Given the description of an element on the screen output the (x, y) to click on. 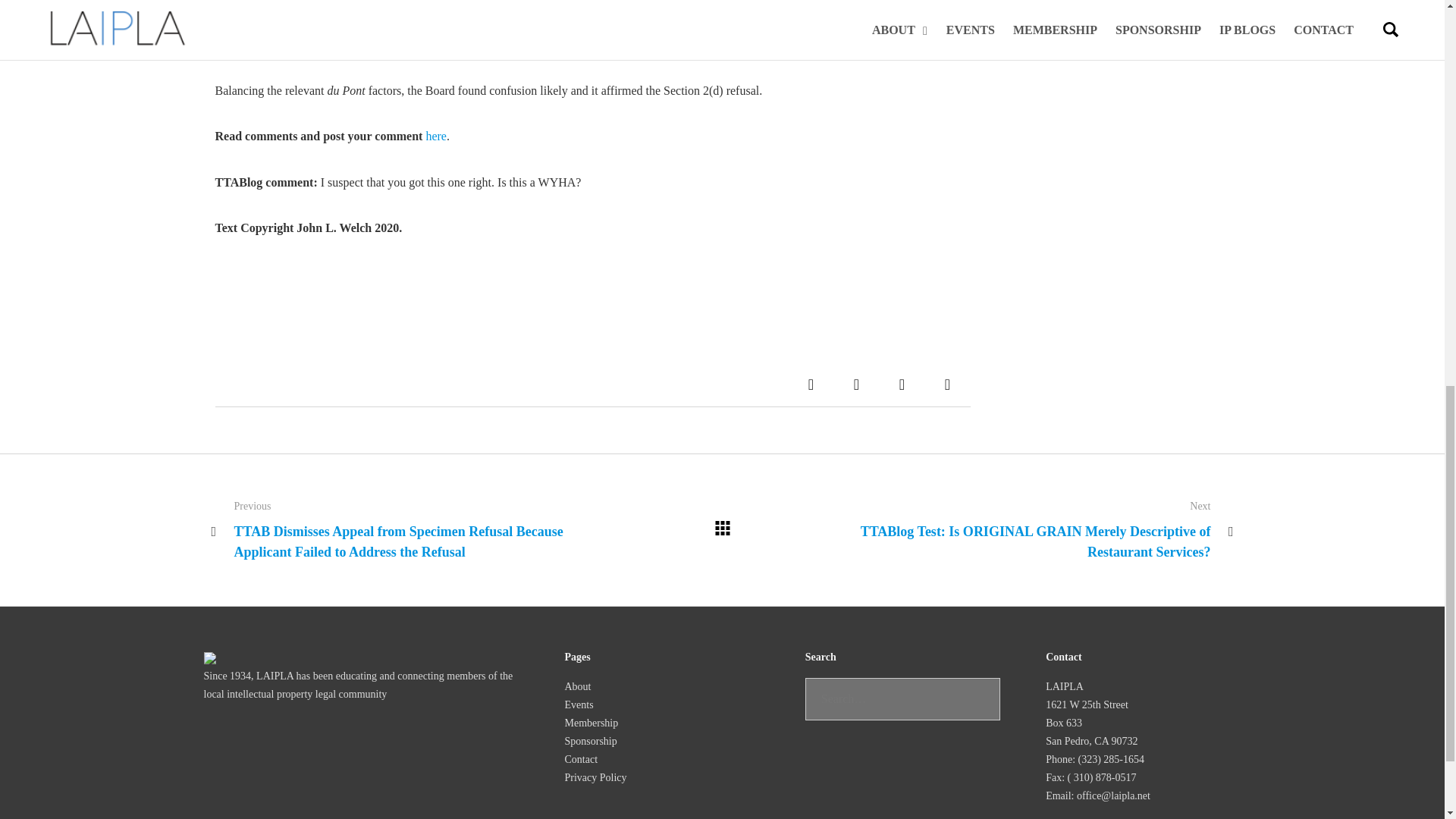
Tweet this. (856, 384)
Share this. (947, 384)
Share this. (811, 384)
Share this. (901, 384)
